Given the description of an element on the screen output the (x, y) to click on. 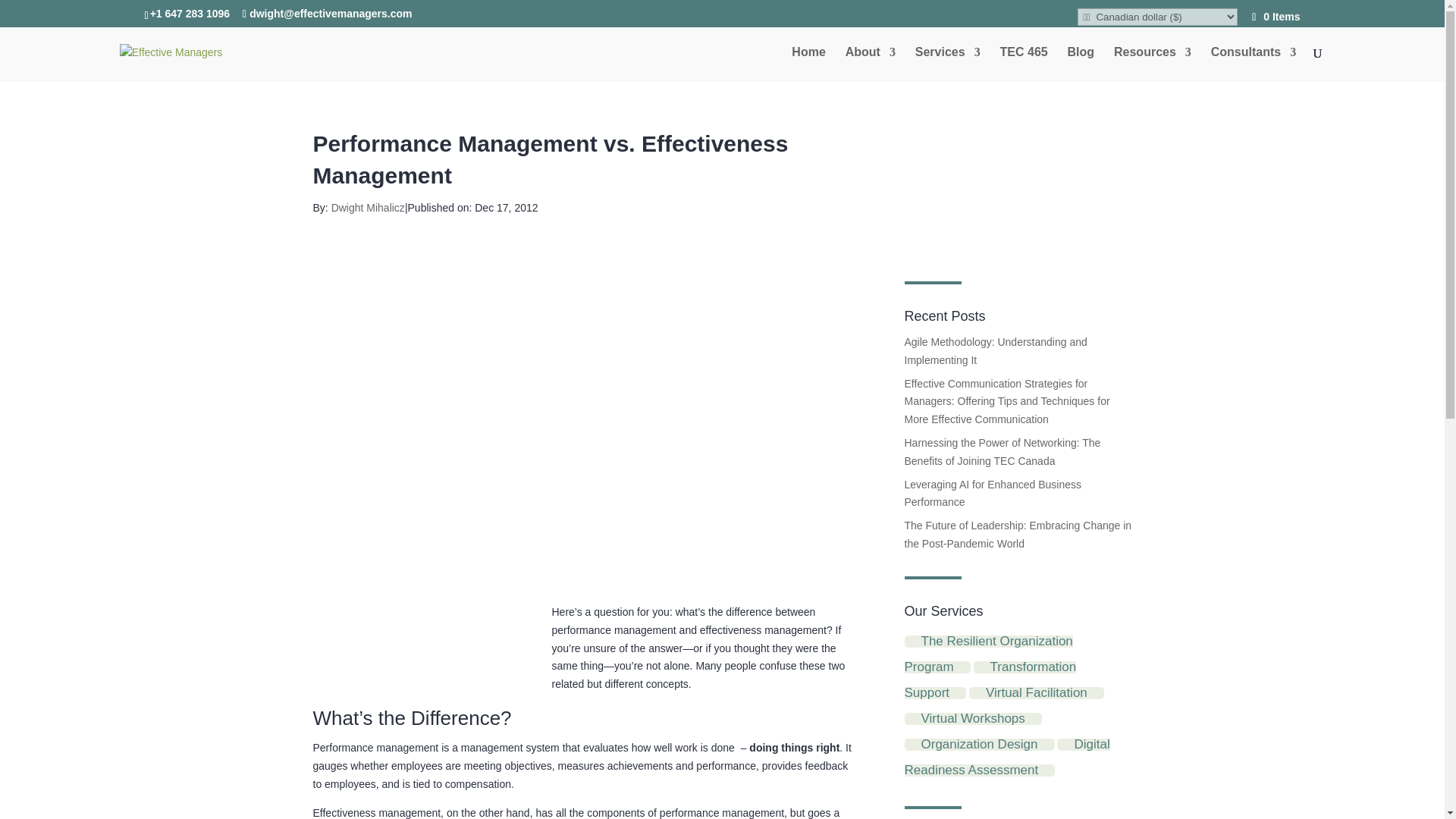
TEC 465 (1024, 63)
Transformation Support (989, 679)
Virtual Facilitation (1036, 693)
Leveraging AI for Enhanced Business Performance (992, 493)
0 Items (1276, 16)
Consultants (1253, 63)
Services (947, 63)
The Resilient Organization Program (987, 654)
Agile Methodology: Understanding and Implementing It (995, 350)
